Given the description of an element on the screen output the (x, y) to click on. 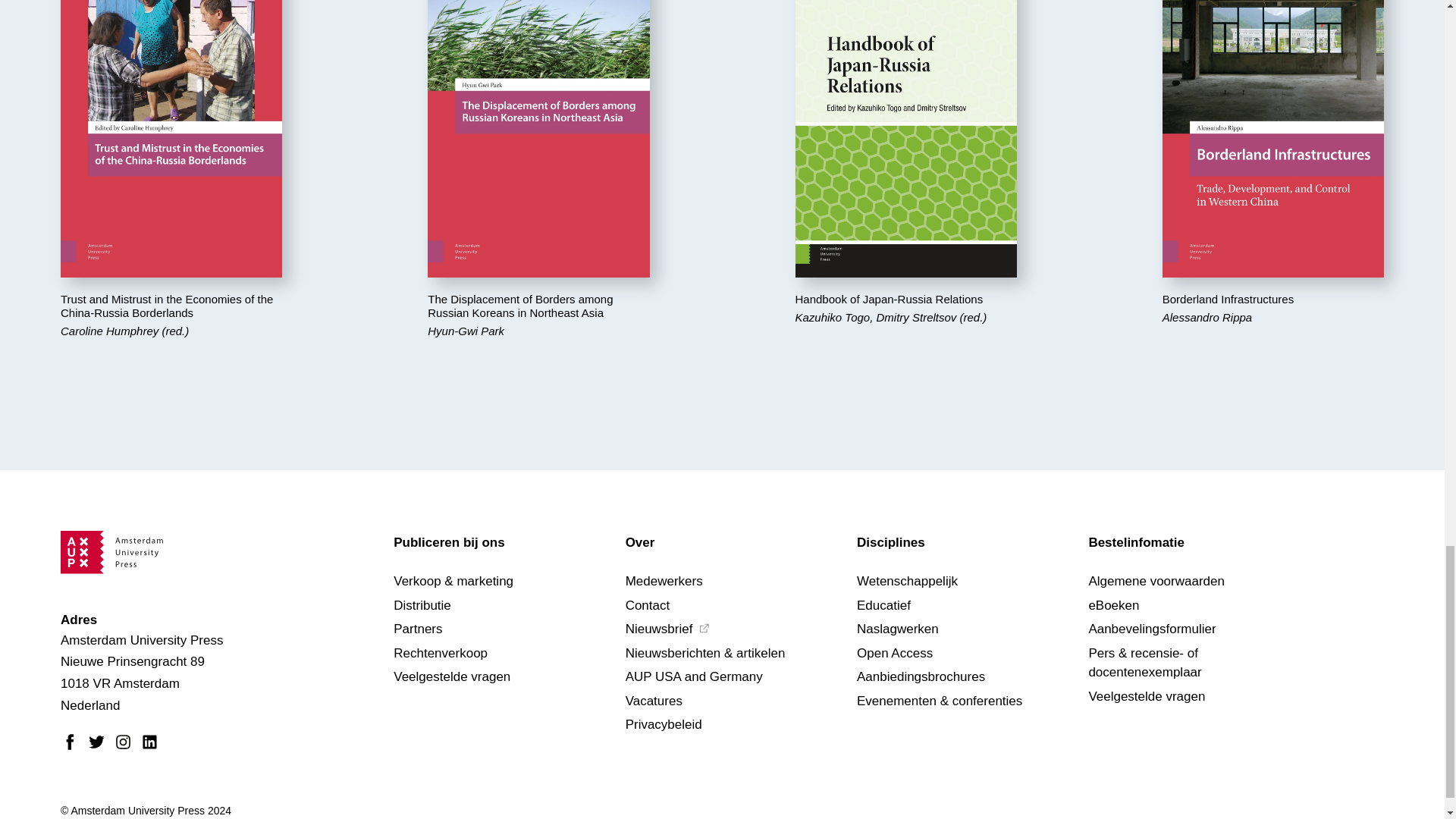
Nieuwsbrief (703, 627)
